Given the description of an element on the screen output the (x, y) to click on. 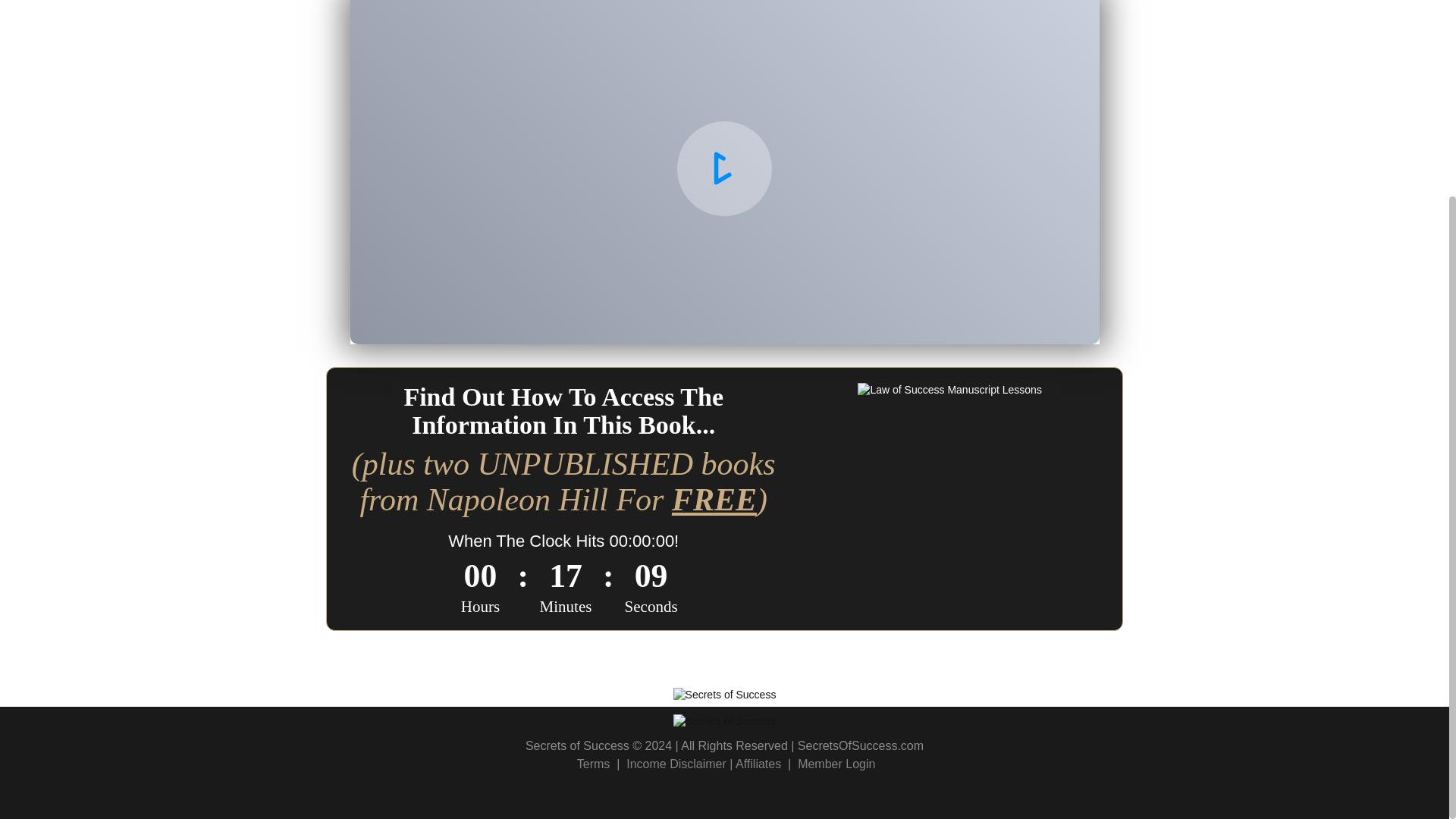
Affiliates (757, 763)
Member Login (836, 763)
Terms (593, 763)
